Given the description of an element on the screen output the (x, y) to click on. 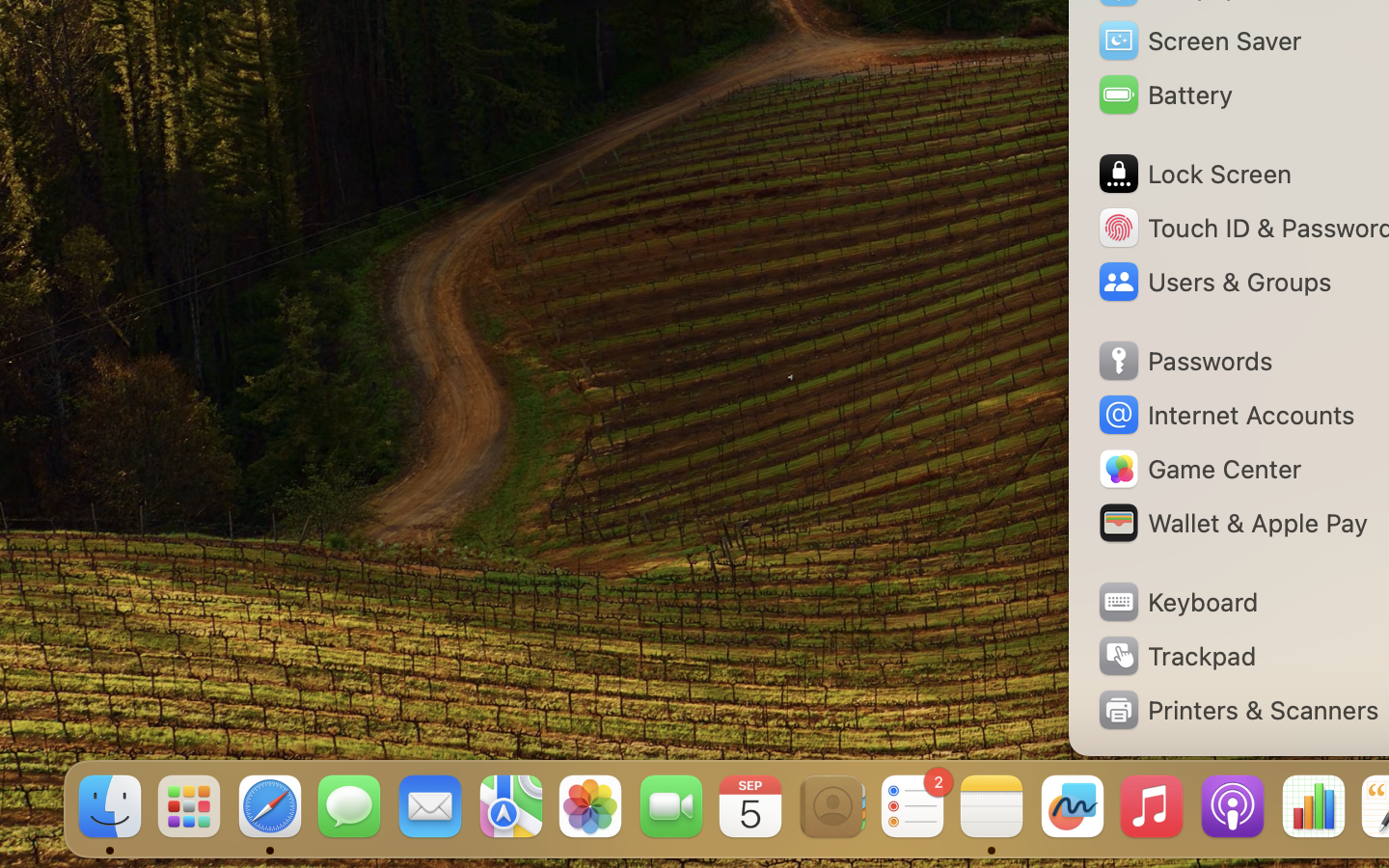
Lock Screen Element type: AXStaticText (1193, 173)
Screen Saver Element type: AXStaticText (1198, 40)
Trackpad Element type: AXStaticText (1175, 655)
Printers & Scanners Element type: AXStaticText (1237, 709)
Battery Element type: AXStaticText (1163, 94)
